Given the description of an element on the screen output the (x, y) to click on. 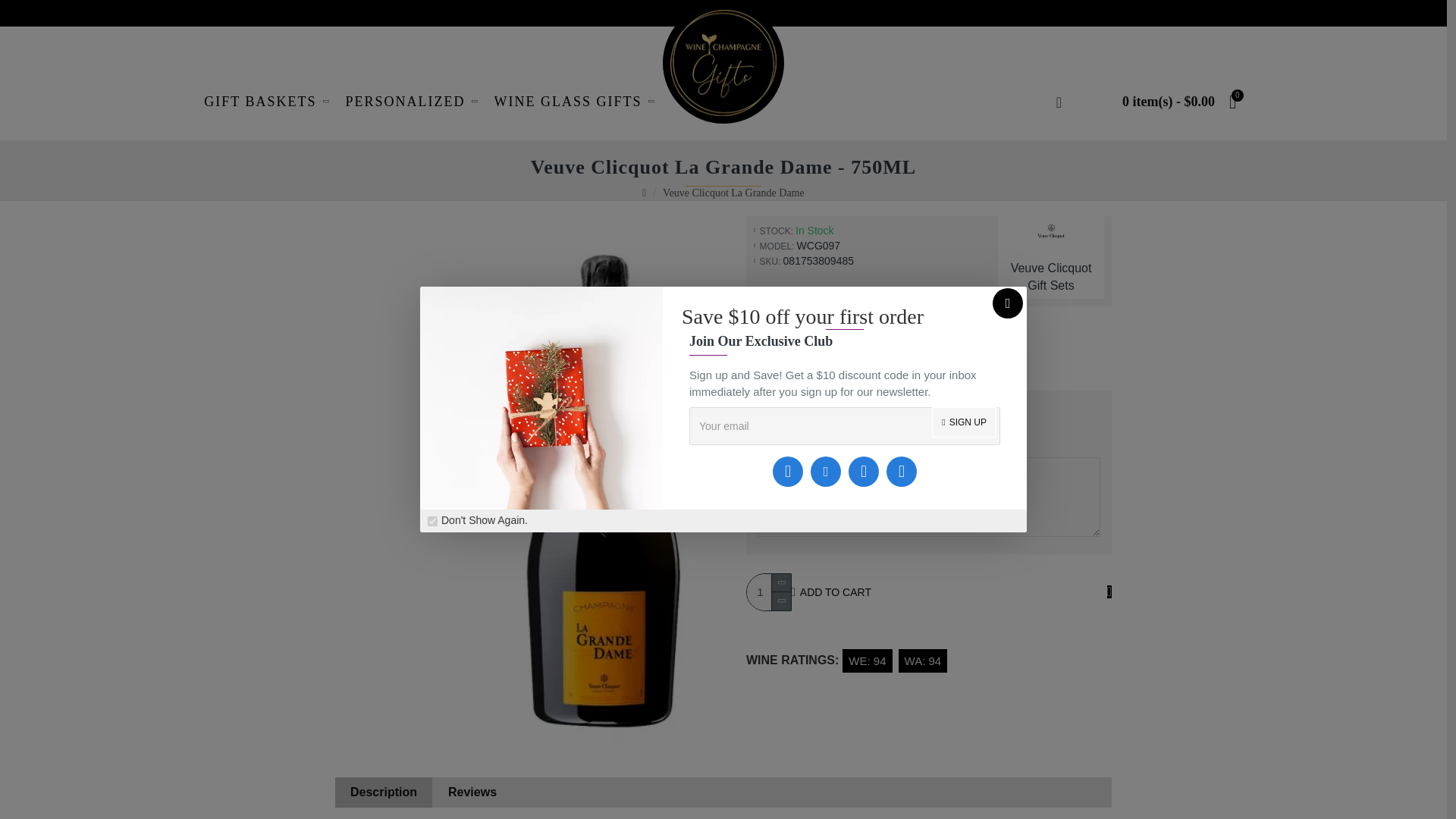
on (433, 521)
Wine and Champagne Gifts (722, 62)
SIGN UP (963, 422)
SIGN IN (1219, 32)
BULK ORDER (356, 32)
202.459.8489 (244, 32)
1 (768, 592)
GIFT BASKETS (268, 102)
TRACK ORDER (475, 32)
